Given the description of an element on the screen output the (x, y) to click on. 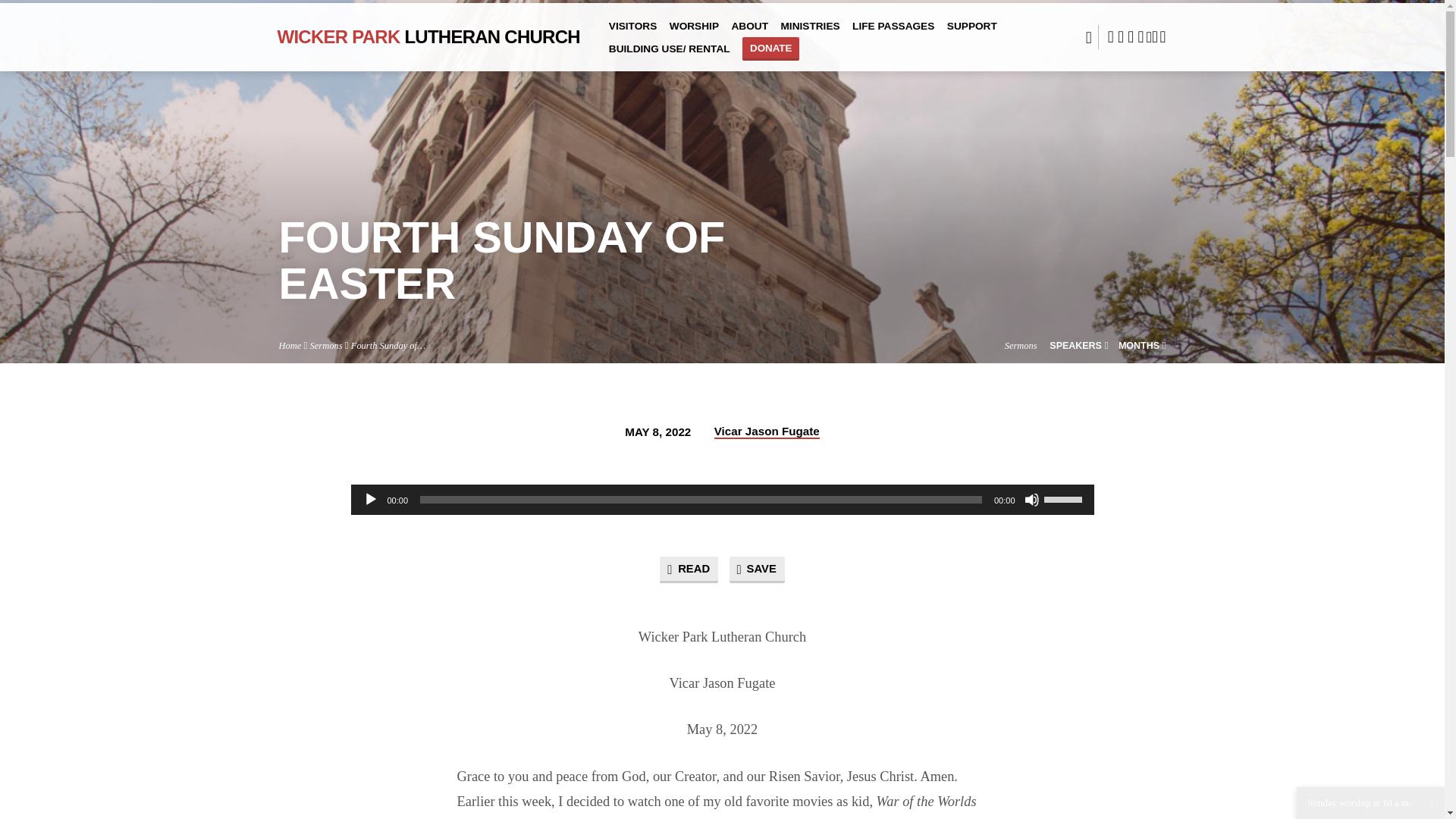
WICKER PARK LUTHERAN CHURCH (428, 36)
MINISTRIES (810, 33)
Play (369, 499)
LIFE PASSAGES (892, 33)
VISITORS (633, 33)
ABOUT (749, 33)
WORSHIP (694, 33)
Mute (1031, 499)
